Given the description of an element on the screen output the (x, y) to click on. 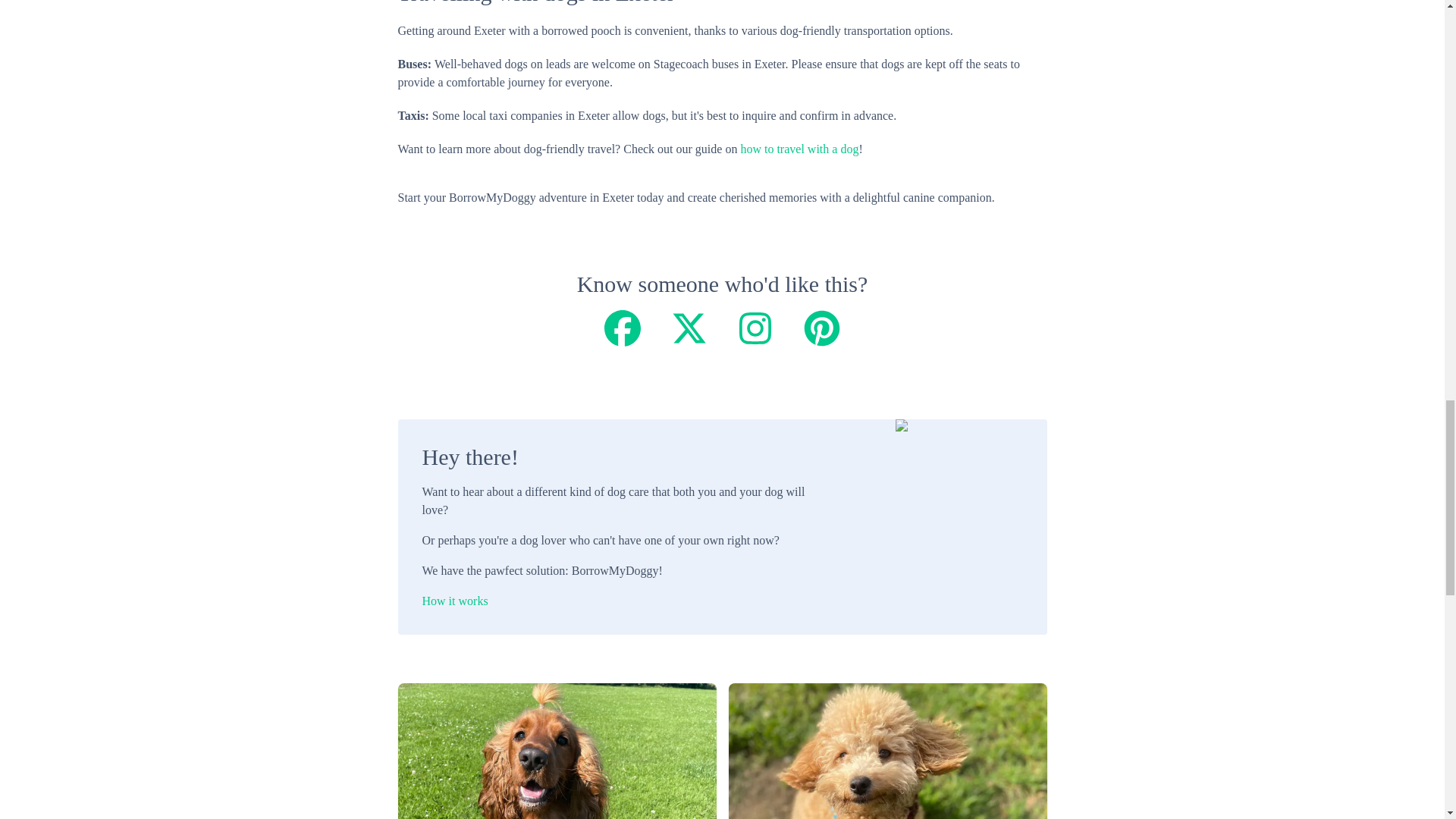
How it works (614, 601)
how to travel with a dog (799, 148)
